Given the description of an element on the screen output the (x, y) to click on. 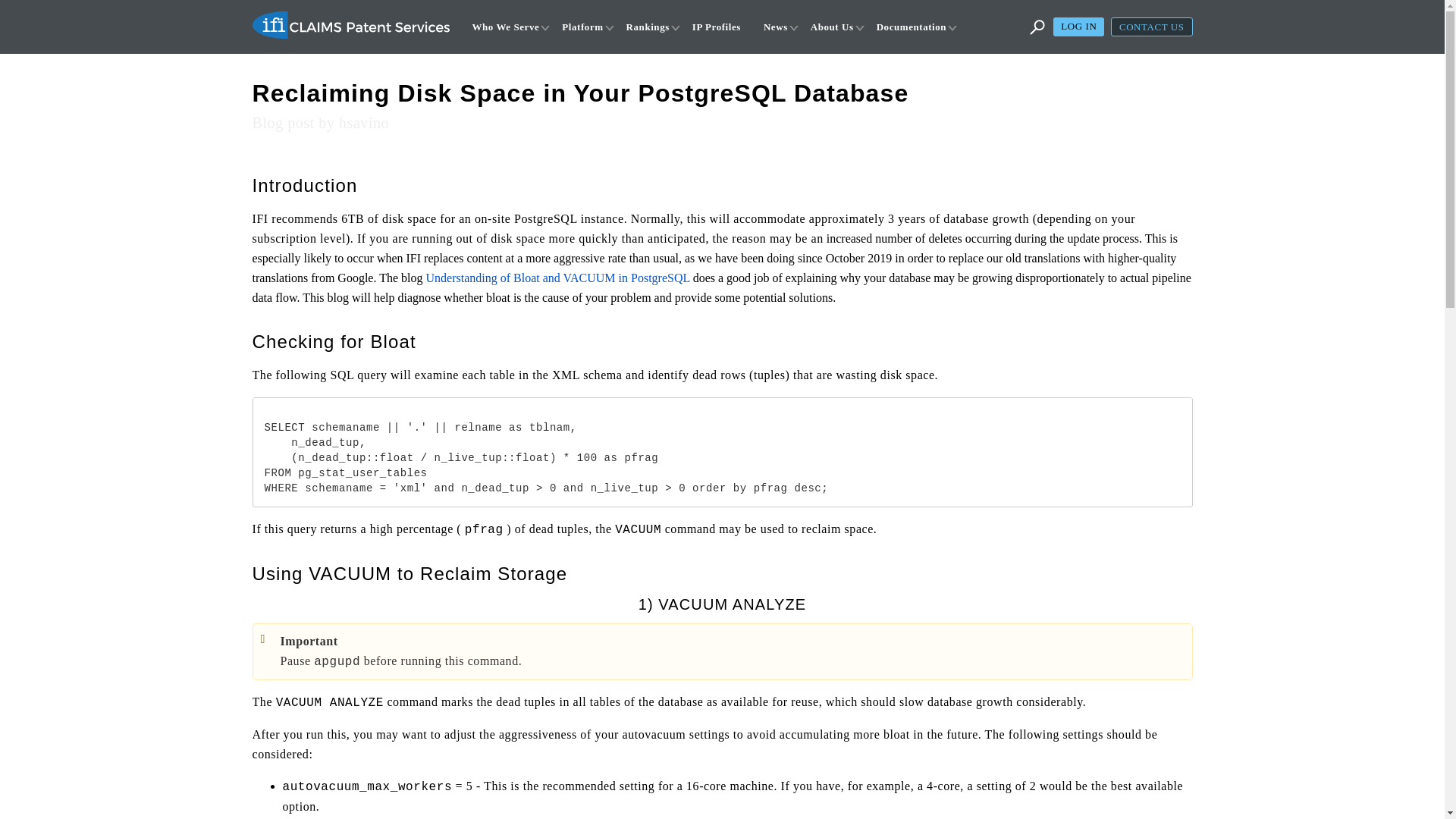
Rankings (650, 28)
Who We Serve (507, 28)
About Us (834, 28)
Platform (585, 28)
Documentation (914, 28)
News (777, 28)
IP Profiles (719, 28)
